Given the description of an element on the screen output the (x, y) to click on. 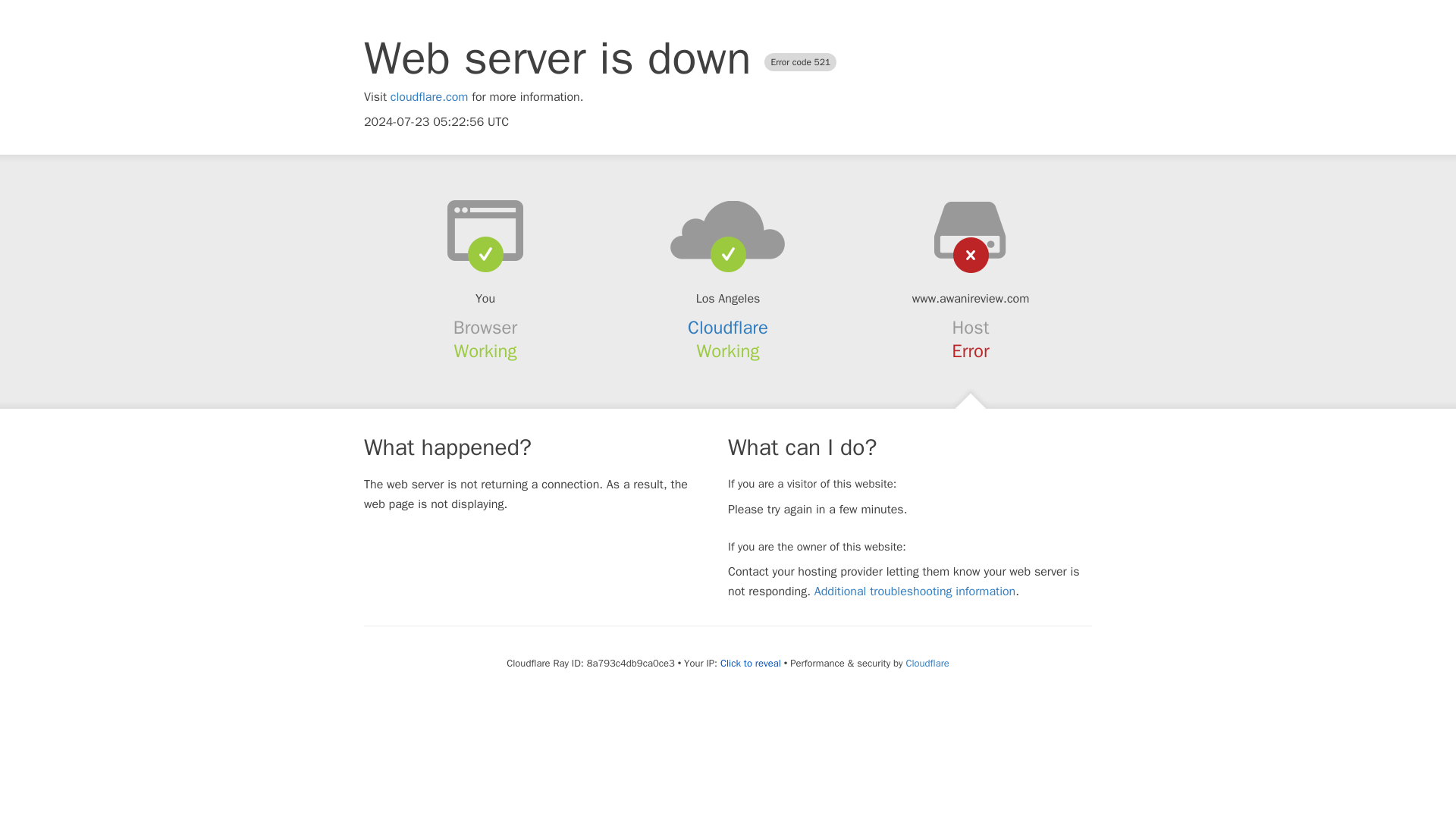
Cloudflare (927, 662)
cloudflare.com (429, 96)
Click to reveal (750, 663)
Additional troubleshooting information (913, 590)
Cloudflare (727, 327)
